Given the description of an element on the screen output the (x, y) to click on. 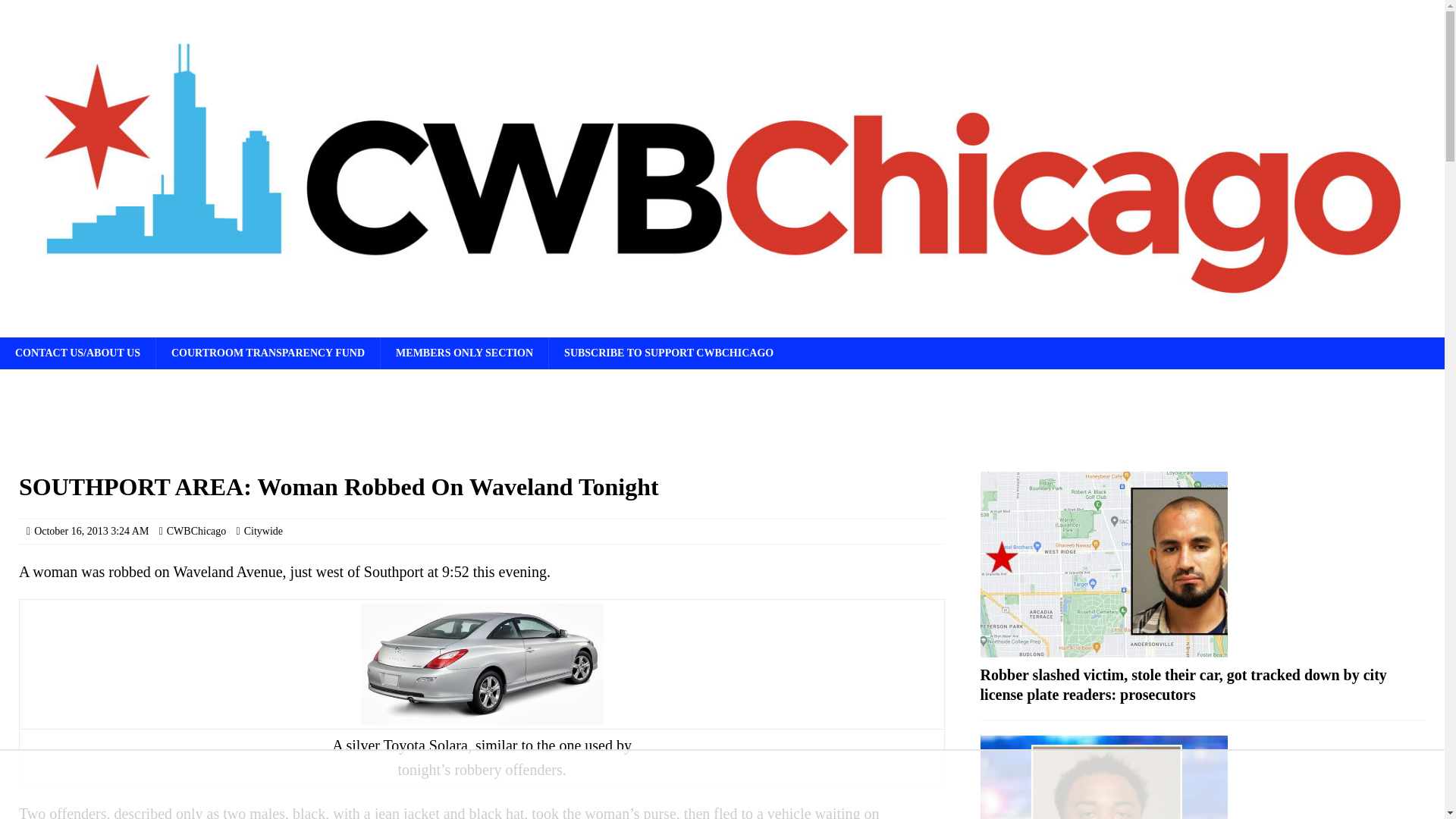
COURTROOM TRANSPARENCY FUND (267, 353)
Citywide (263, 531)
CWBChicago (197, 531)
SUBSCRIBE TO SUPPORT CWBCHICAGO (668, 353)
October 16, 2013 3:24 AM (90, 531)
MEMBERS ONLY SECTION (464, 353)
